Given the description of an element on the screen output the (x, y) to click on. 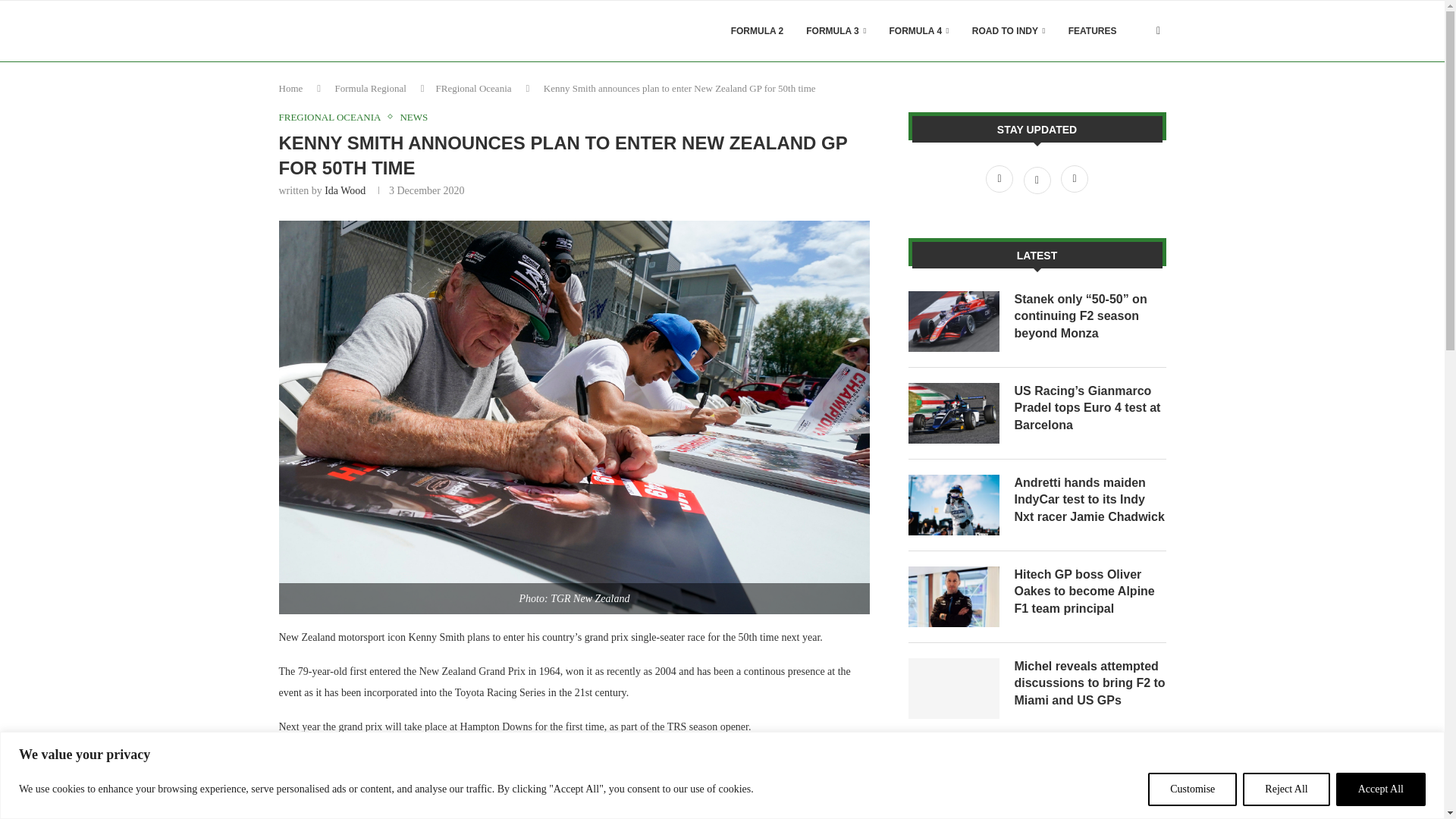
FRegional Oceania (473, 88)
ROAD TO INDY (1008, 30)
Reject All (1286, 788)
NEWS (413, 117)
Formula Regional (370, 88)
FORMULA 3 (836, 30)
Home (290, 88)
